Given the description of an element on the screen output the (x, y) to click on. 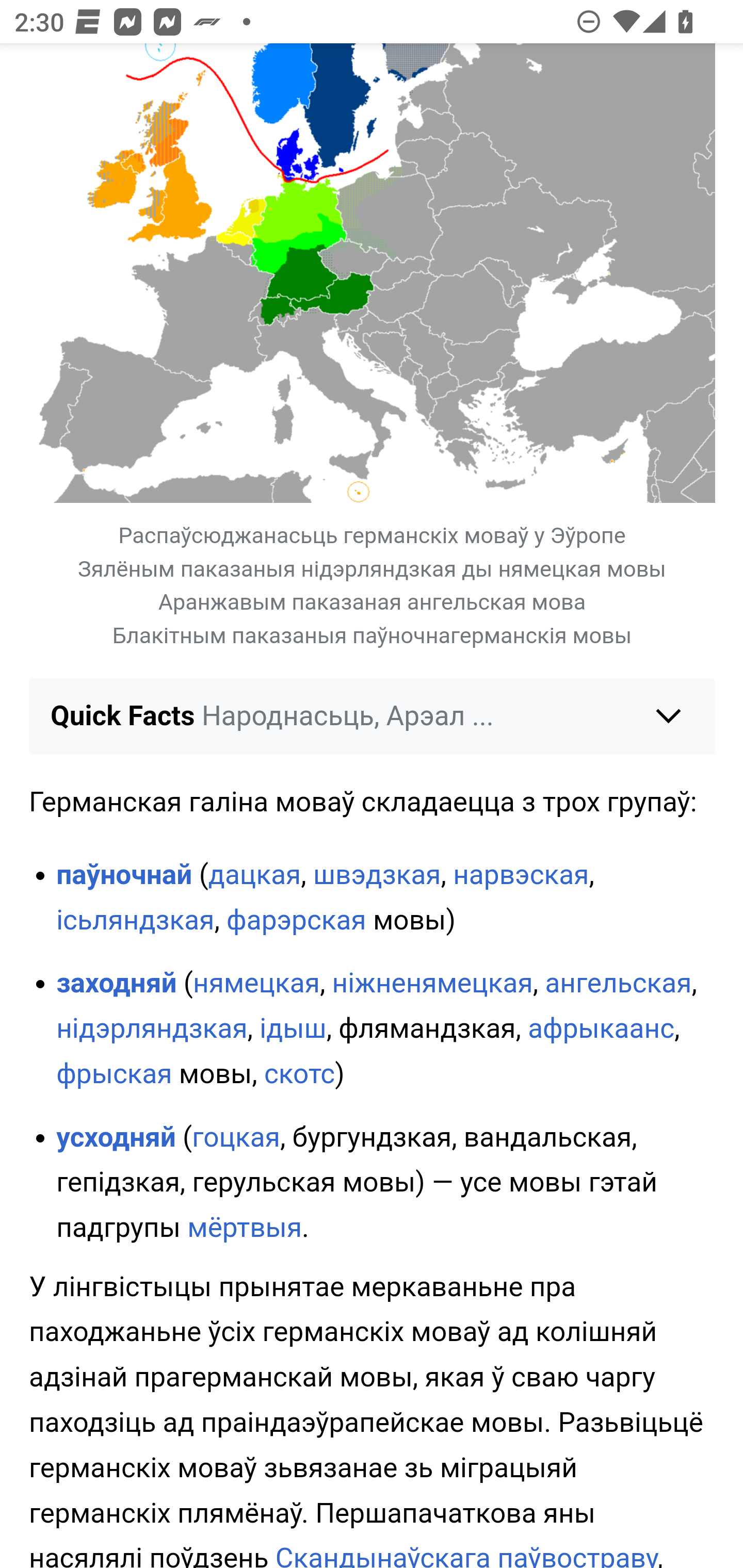
960px-Europe_germanic-languages_2 (372, 273)
Expand table (372, 399)
Quick Facts  Народнасьць, Арэал ... Expand table (372, 716)
паўночнай (124, 876)
дацкая (254, 876)
швэдзкая (377, 876)
нарвэская (520, 876)
ісьляндзкая (134, 921)
фарэрская (295, 921)
заходняй (116, 984)
нямецкая (256, 984)
ніжненямецкая (431, 984)
ангельская (618, 984)
нідэрляндзкая (151, 1029)
ідыш (291, 1029)
афрыкаанс (601, 1029)
фрыская (114, 1074)
скотс (299, 1074)
усходняй (115, 1138)
гоцкая (236, 1138)
мёртвыя (244, 1229)
Скандынаўскага паўвостраву (466, 1555)
